Given the description of an element on the screen output the (x, y) to click on. 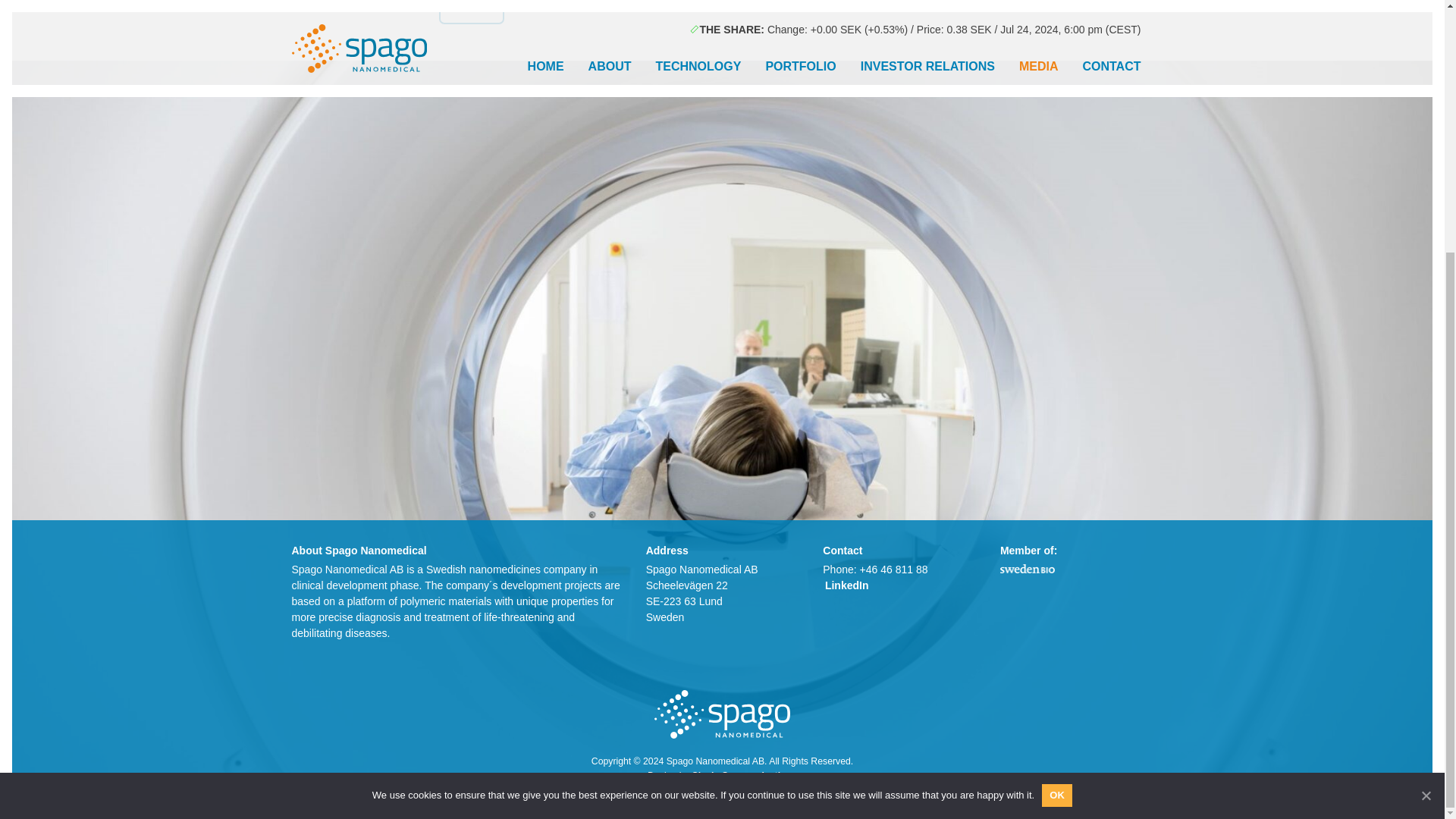
BACK (471, 12)
Member of: (1027, 568)
LinkedIn (844, 585)
